Given the description of an element on the screen output the (x, y) to click on. 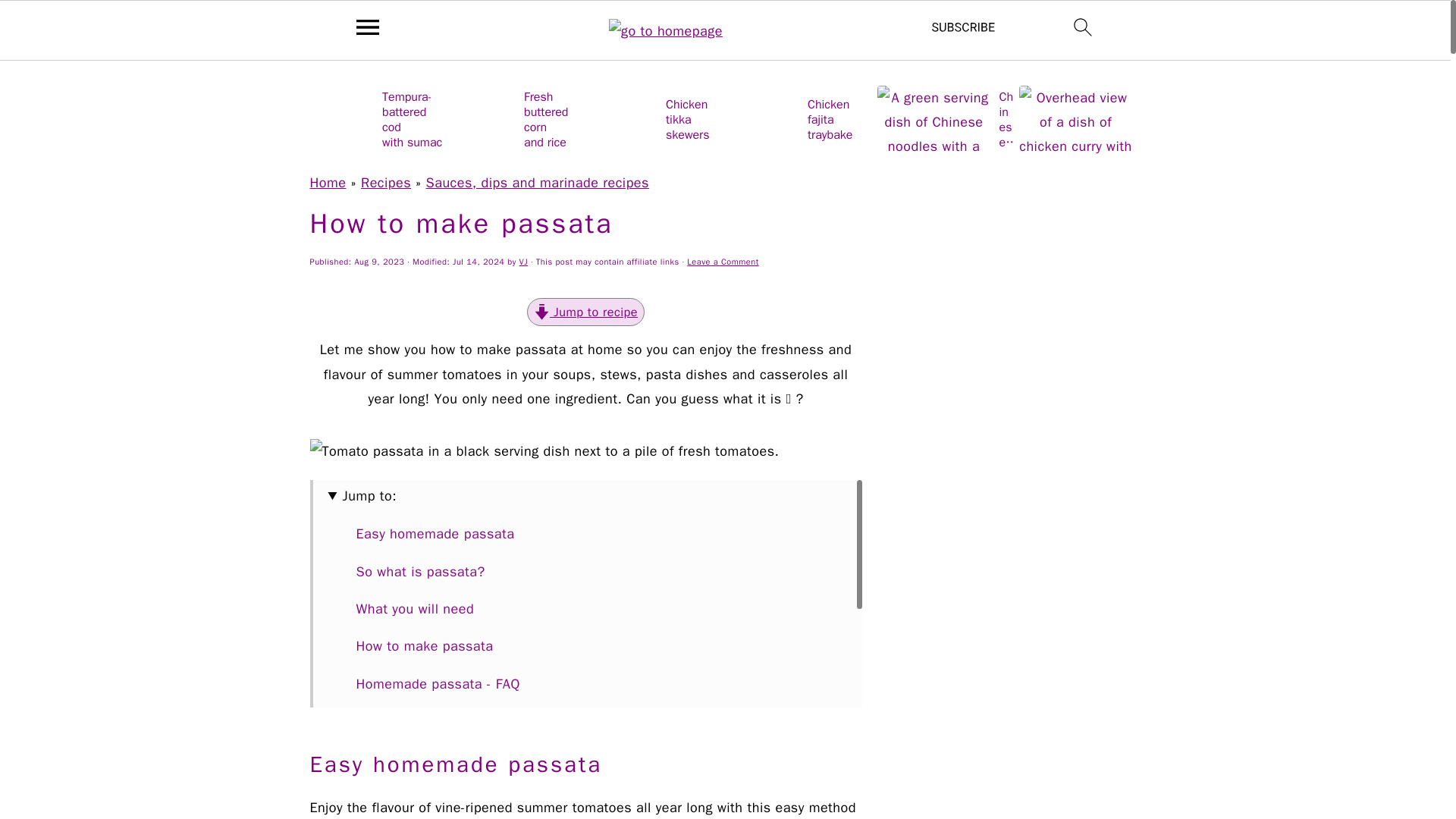
Fresh buttered corn and rice (519, 118)
menu icon (368, 26)
Green bean bredie with lamb (1371, 118)
Chinese stir-fried noodles with beansprouts (944, 118)
Apple and pecan nut loaf (1228, 118)
Jump to recipe (586, 311)
Chicken fajita traybake (803, 118)
South African chicken curry (1087, 118)
Tempura-battered cod with sumac (376, 118)
search icon (1083, 26)
